Given the description of an element on the screen output the (x, y) to click on. 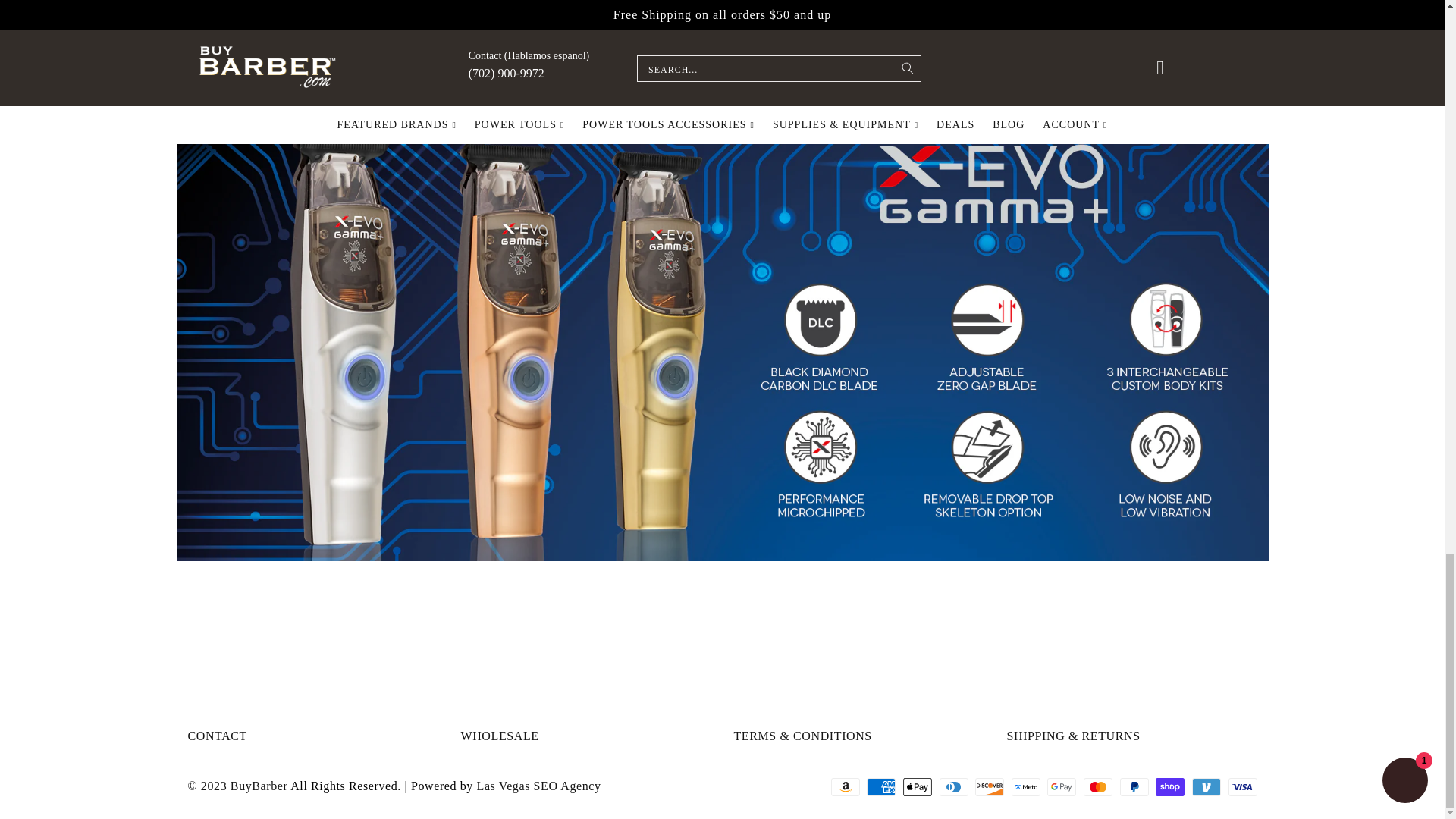
Shop Pay (1170, 787)
wholesale barber supplies (864, 101)
Visa (1242, 787)
Mastercard (1097, 787)
wholesale barber supplies (906, 101)
Google Pay (1060, 787)
Meta Pay (1026, 787)
Shipping Policy (1073, 735)
Contact Us (217, 735)
Venmo (1206, 787)
Apple Pay (916, 787)
PayPal (1133, 787)
Amazon (845, 787)
Diners Club (953, 787)
Discover (989, 787)
